Given the description of an element on the screen output the (x, y) to click on. 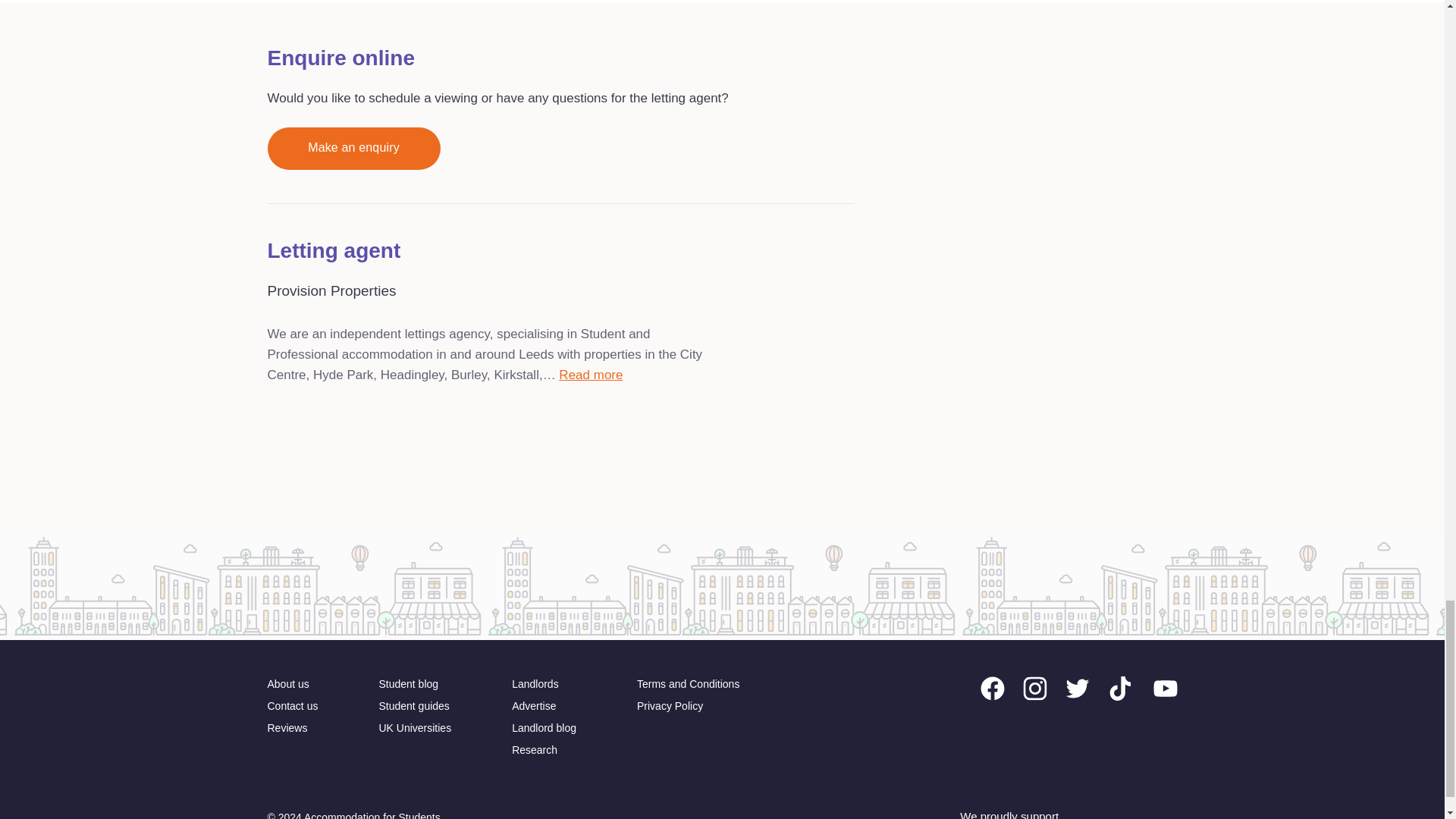
Reviews (286, 728)
Landlords (535, 684)
Student guides (413, 706)
UK Universities (414, 728)
About us (287, 684)
Contact us (291, 706)
Student blog (408, 684)
Read more (591, 374)
Make an enquiry (352, 148)
